Given the description of an element on the screen output the (x, y) to click on. 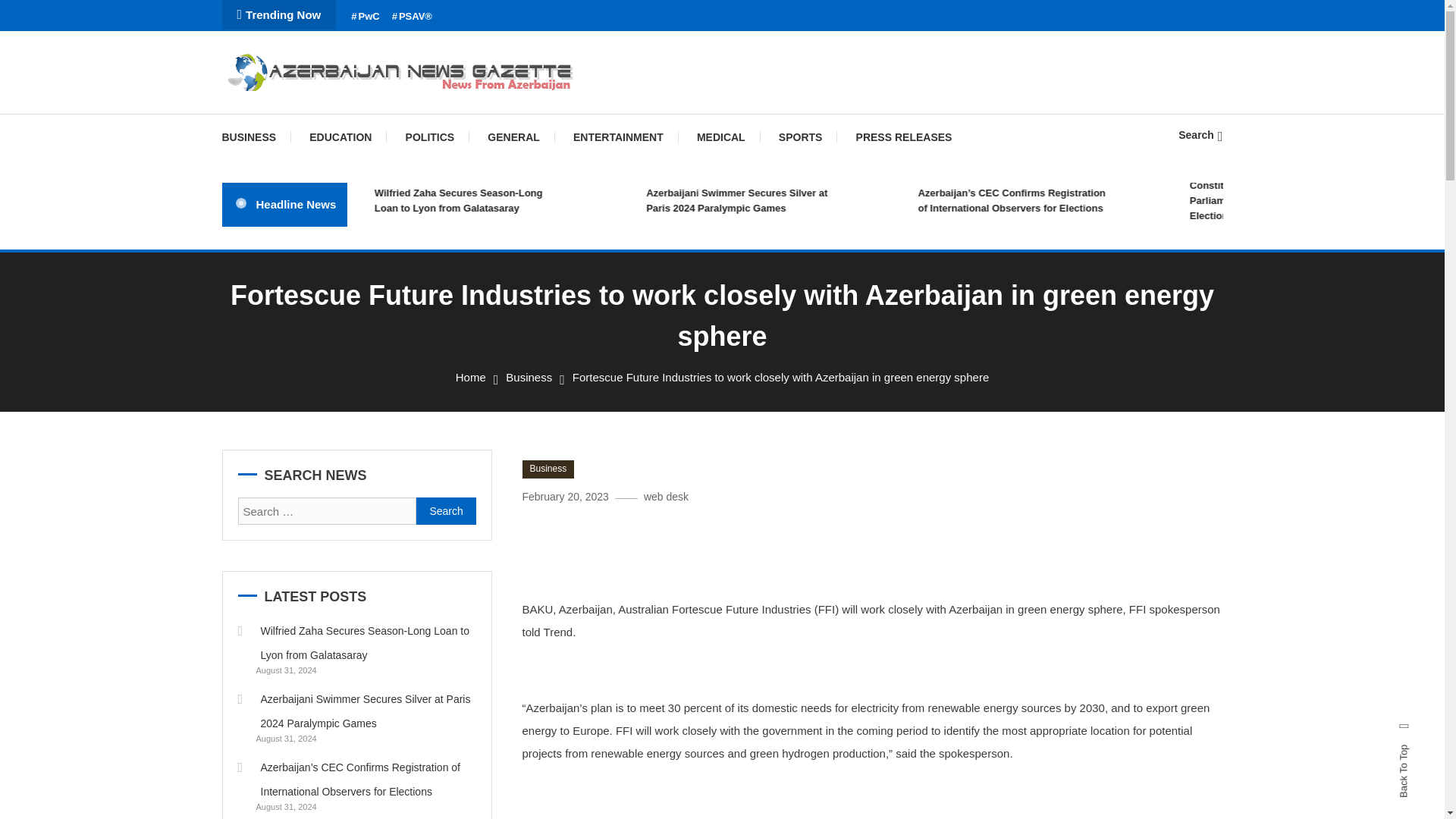
Search (446, 510)
Search (768, 434)
EDUCATION (340, 136)
Search (1200, 134)
PwC (364, 16)
SPORTS (800, 136)
Search (446, 510)
February 20, 2023 (564, 496)
Home (470, 377)
